Given the description of an element on the screen output the (x, y) to click on. 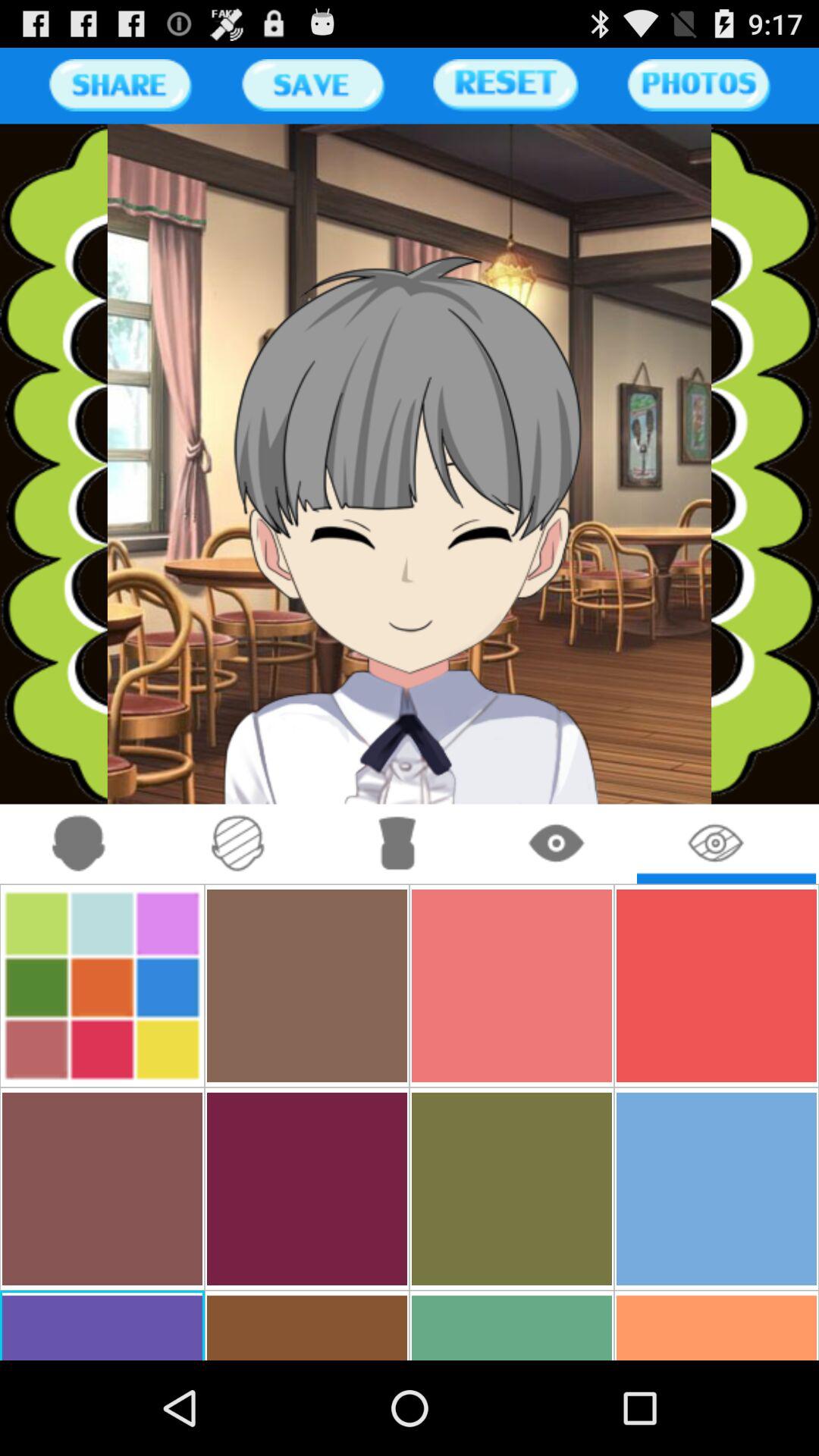
eye color (716, 843)
